Given the description of an element on the screen output the (x, y) to click on. 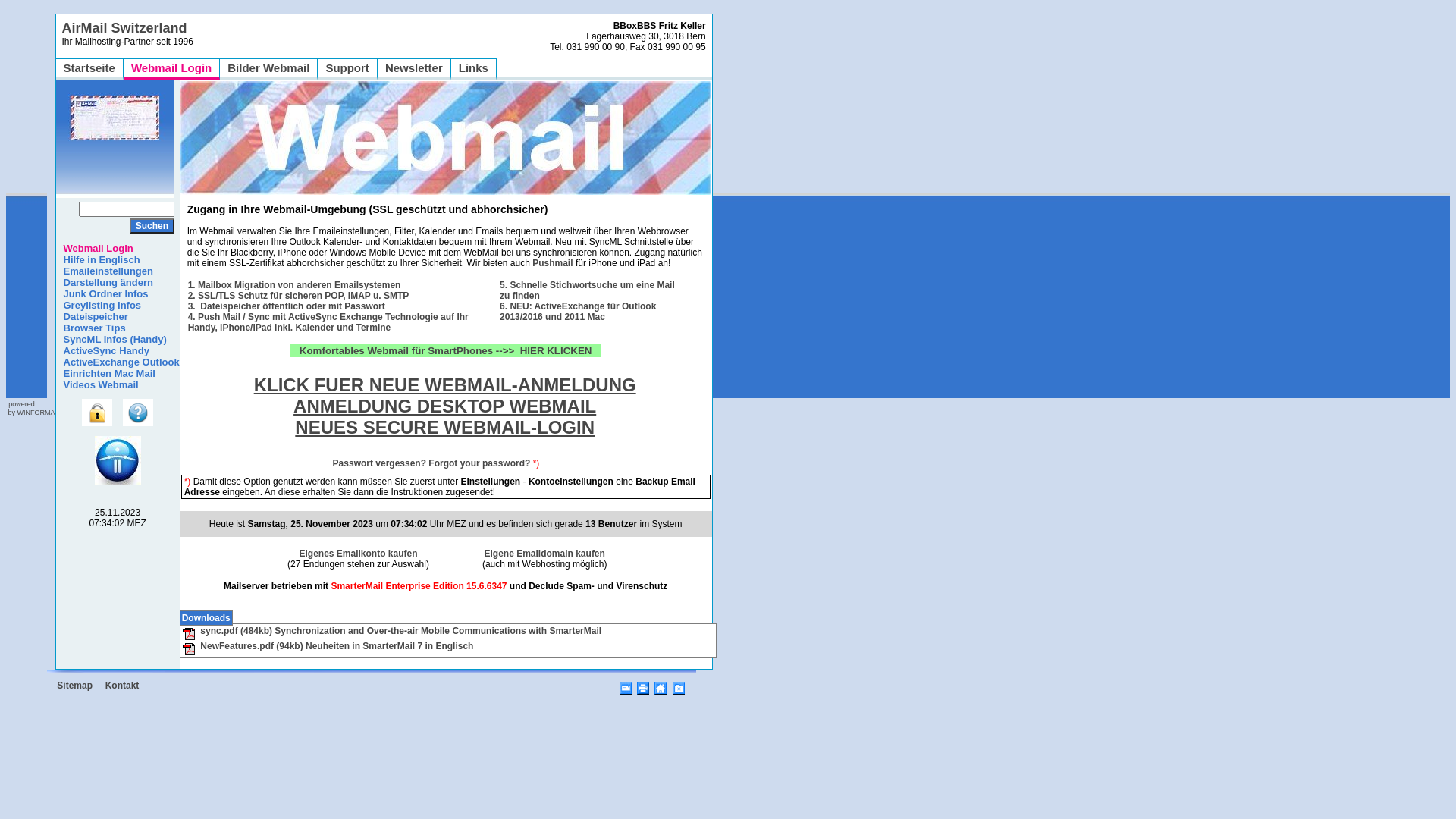
Webmail Login Element type: text (171, 67)
Dateispeicher Element type: text (92, 316)
Startseite / Page Element type: hover (660, 685)
Junk Ordner Infos Element type: text (102, 293)
Favoriten Element type: hover (678, 685)
5. Schnelle Stichwortsuche um eine Mail zu finden Element type: text (586, 290)
AirMail Switzerland Element type: text (124, 27)
powered
 by WINFORMA Element type: text (30, 408)
Hilfe in Englisch Element type: text (98, 259)
Passwort vergessen? Forgot your password? Element type: text (431, 468)
Webmail Login Element type: text (94, 248)
Links Element type: text (473, 67)
Bilder Webmail Element type: text (268, 67)
Browser Tips Element type: text (90, 327)
ActiveSync Handy Element type: text (102, 350)
Greylisting Infos Element type: text (98, 304)
Eigene Emaildomain kaufen Element type: text (543, 553)
Kontakt Element type: text (122, 685)
ActiveExchange Outlook Element type: text (117, 361)
Einrichten Mac Mail Element type: text (105, 373)
Pushmail Element type: text (552, 262)
Emaileinstellungen Element type: text (104, 270)
1. Mailbox Migration von anderen Emailsystemen Element type: text (294, 284)
Sitemap Element type: text (74, 685)
Eigenes Emailkonto kaufen Element type: text (357, 553)
Newsletter Element type: text (413, 67)
Videos Webmail Element type: text (97, 384)
Startseite Element type: text (89, 67)
SyncML Infos (Handy) Element type: text (111, 339)
Suchen Element type: text (151, 225)
Support Element type: text (347, 67)
